Given the description of an element on the screen output the (x, y) to click on. 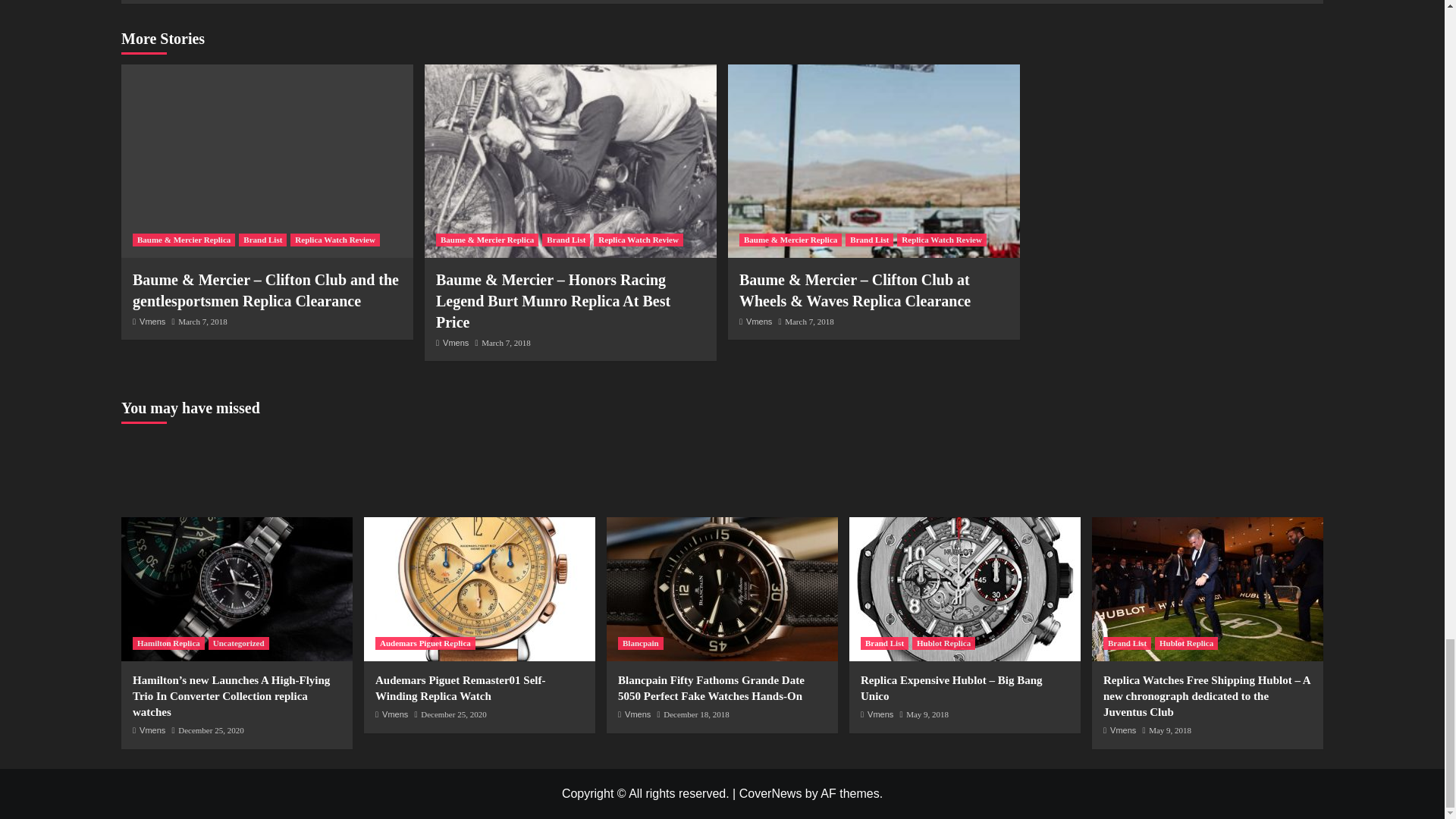
Replica Watch Review (334, 239)
Brand List (262, 239)
March 7, 2018 (505, 342)
March 7, 2018 (808, 320)
Replica Watch Review (638, 239)
Vmens (455, 342)
Vmens (152, 320)
Vmens (152, 729)
Uncategorized (238, 643)
Hamilton Replica (168, 643)
Brand List (869, 239)
March 7, 2018 (202, 320)
Vmens (758, 320)
Brand List (565, 239)
Replica Watch Review (941, 239)
